Given the description of an element on the screen output the (x, y) to click on. 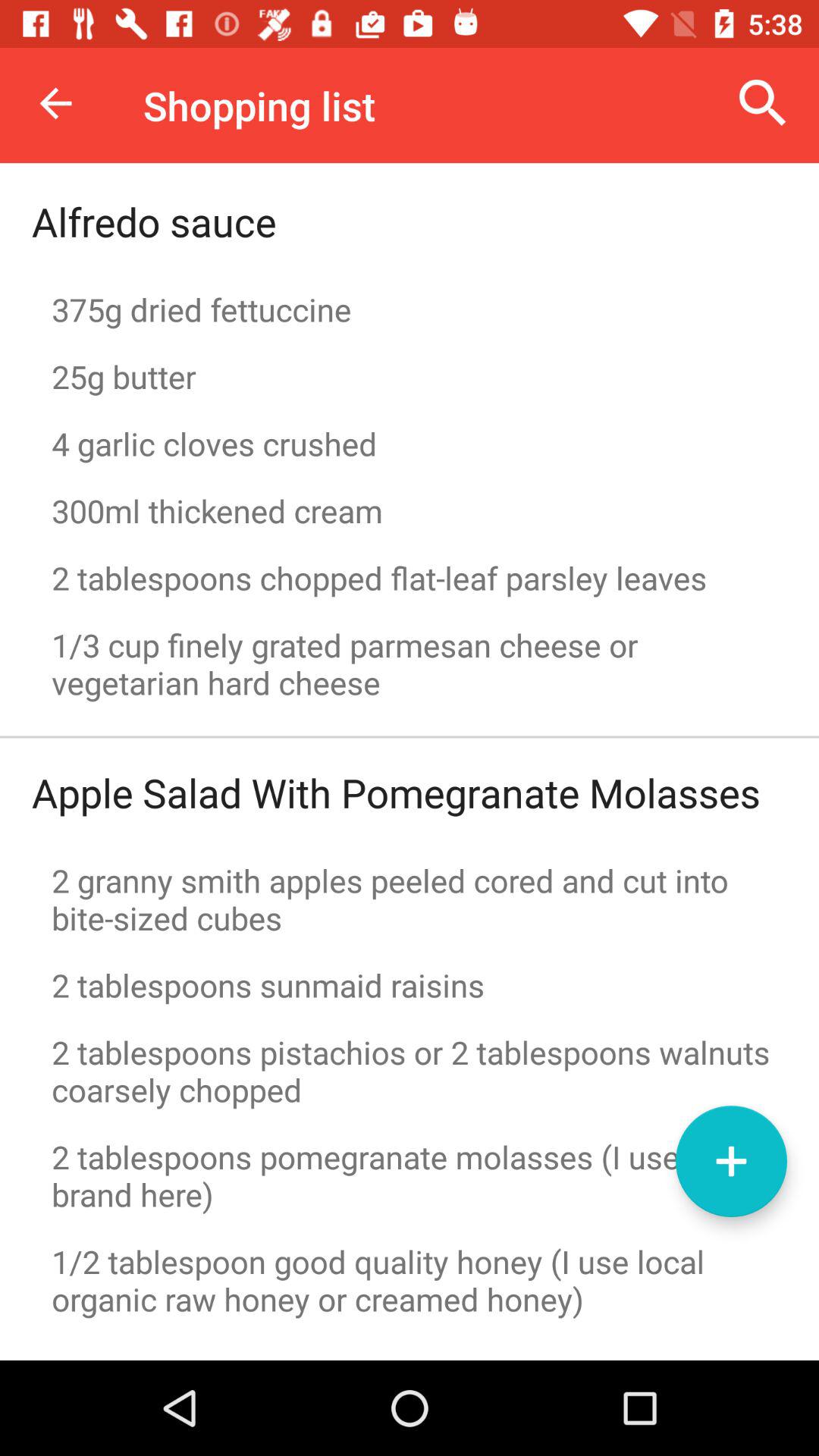
select the item below the alfredo sauce item (409, 308)
